Given the description of an element on the screen output the (x, y) to click on. 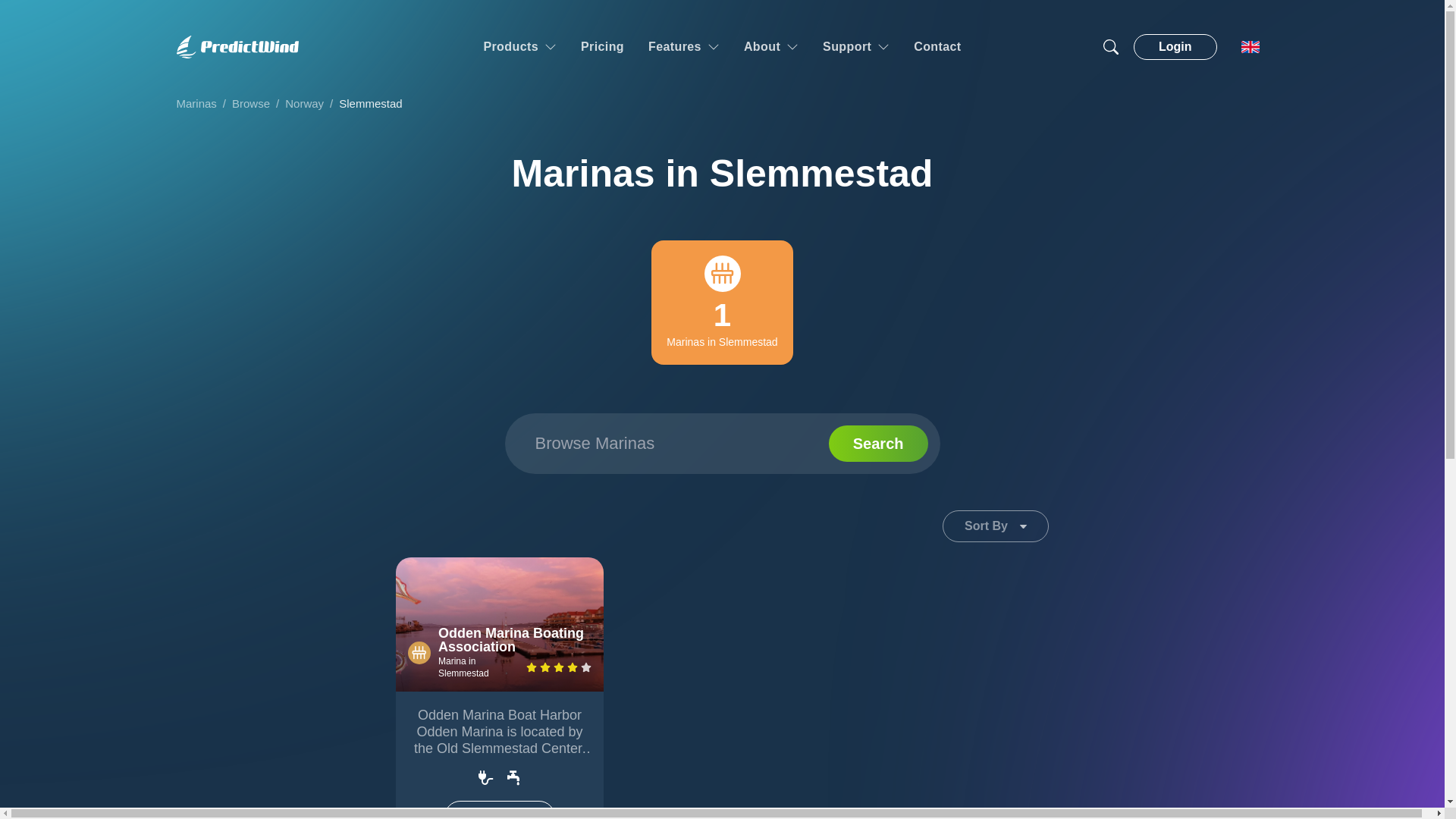
Login (1175, 46)
Features (683, 46)
Pricing (602, 46)
Slemmestad (370, 103)
Marinas (195, 103)
Support (855, 46)
Norway (304, 103)
Browse (250, 103)
Search (878, 443)
About (770, 46)
